Given the description of an element on the screen output the (x, y) to click on. 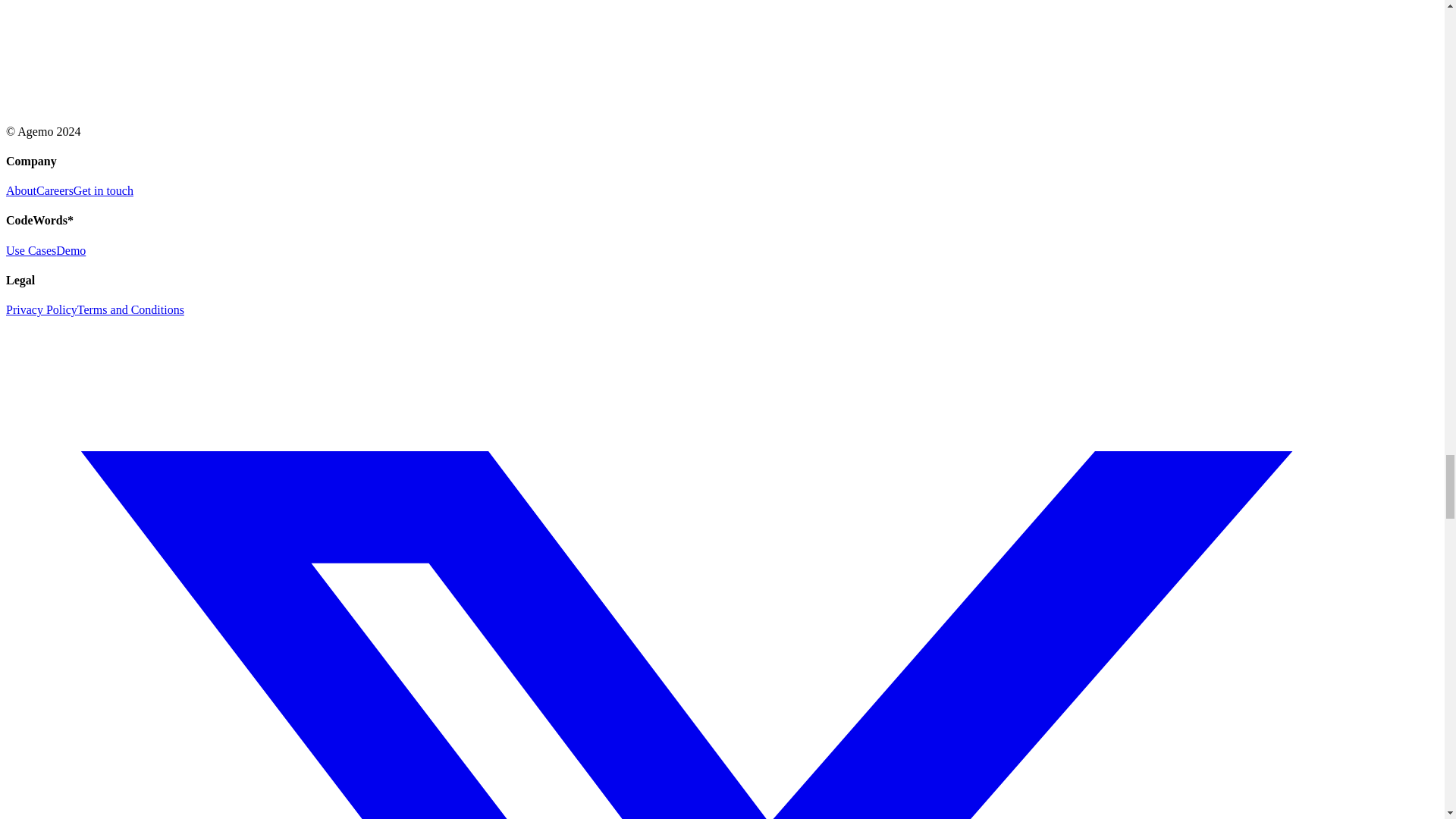
Use Cases (30, 250)
Get in touch (103, 190)
Careers (55, 190)
Privacy Policy (41, 309)
Terms and Conditions (130, 309)
About (20, 190)
Demo (70, 250)
